Given the description of an element on the screen output the (x, y) to click on. 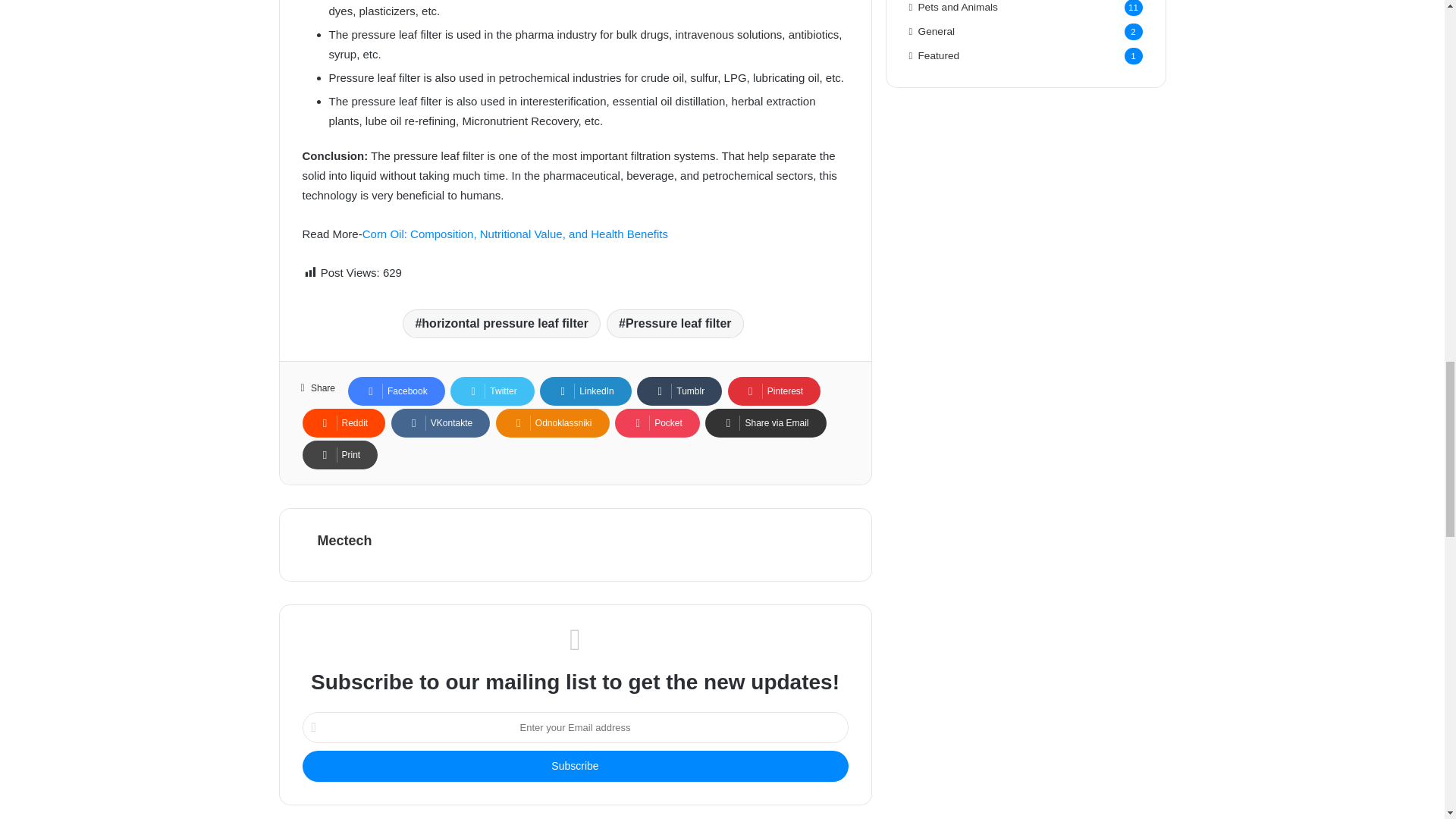
Tumblr (679, 390)
Facebook (396, 390)
horizontal pressure leaf filter (501, 323)
Facebook (396, 390)
Reddit (343, 422)
Subscribe (574, 766)
Pinterest (774, 390)
VKontakte (440, 422)
Pressure leaf filter (675, 323)
